Given the description of an element on the screen output the (x, y) to click on. 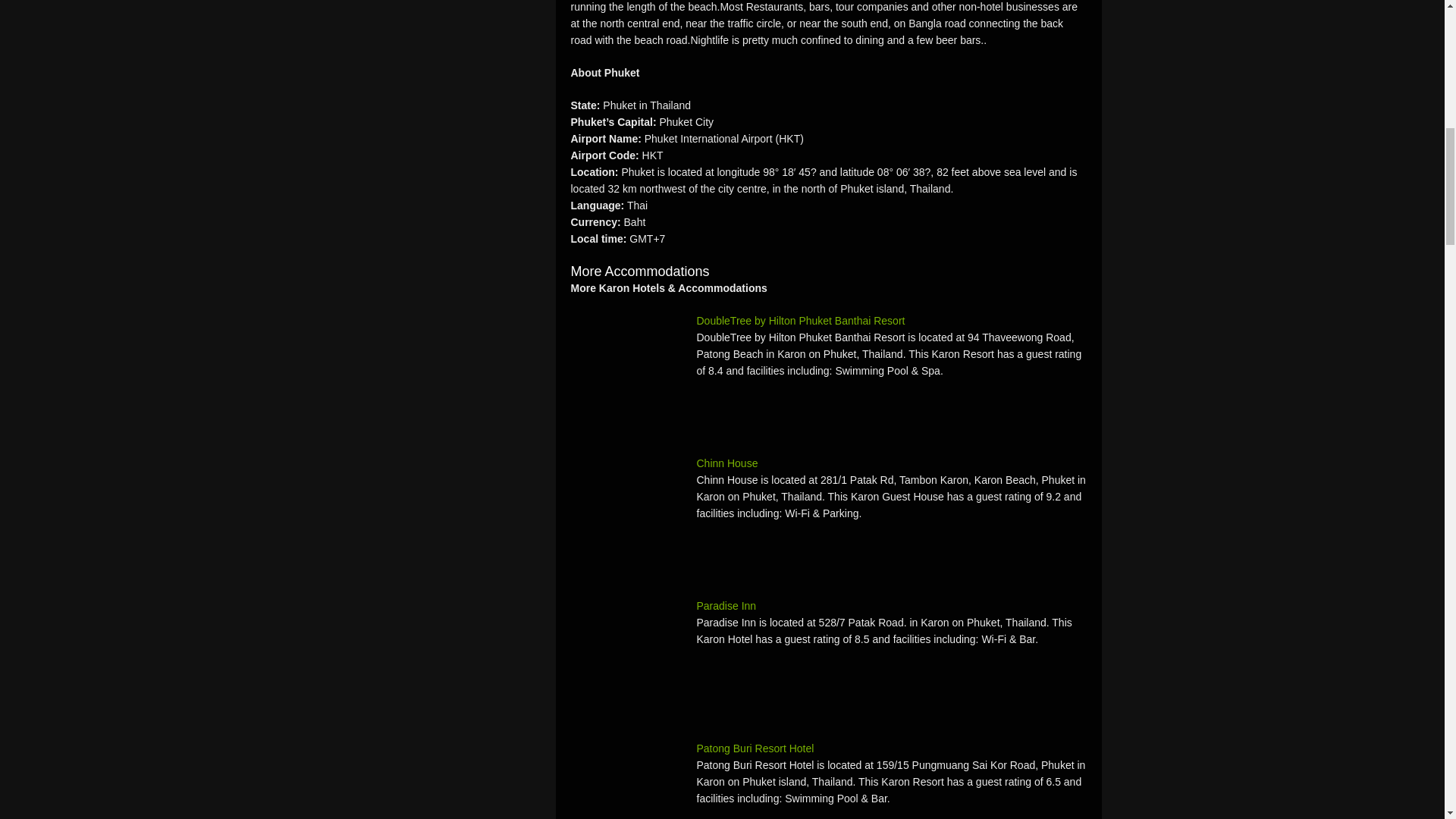
Paradise Inn (828, 605)
DoubleTree by Hilton Phuket Banthai Resort (828, 320)
DoubleTree by Hilton Phuket Banthai Resort (627, 368)
Chinn House (828, 463)
Patong Buri Resort Hotel (627, 779)
Paradise Inn (627, 654)
Patong Buri Resort Hotel (828, 748)
Chinn House (627, 511)
